Given the description of an element on the screen output the (x, y) to click on. 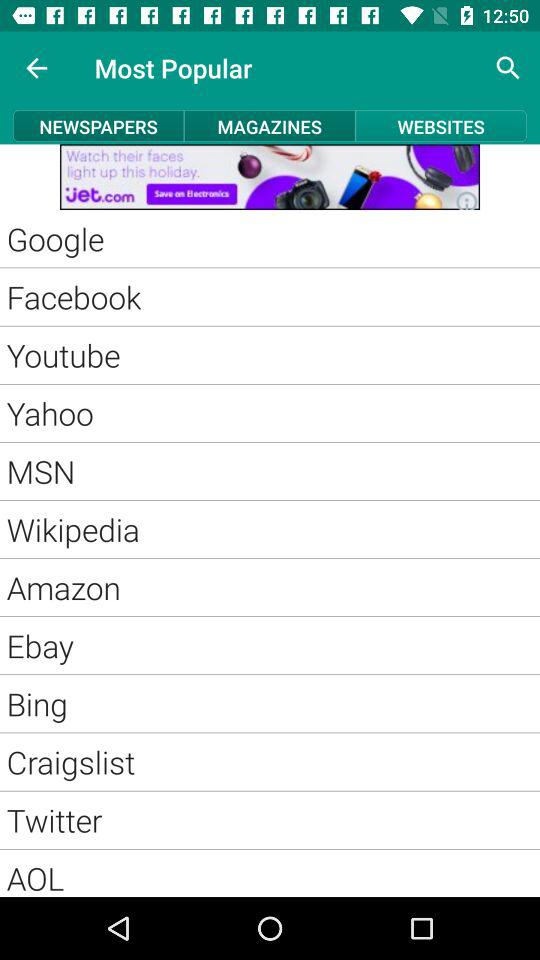
search (508, 67)
